Given the description of an element on the screen output the (x, y) to click on. 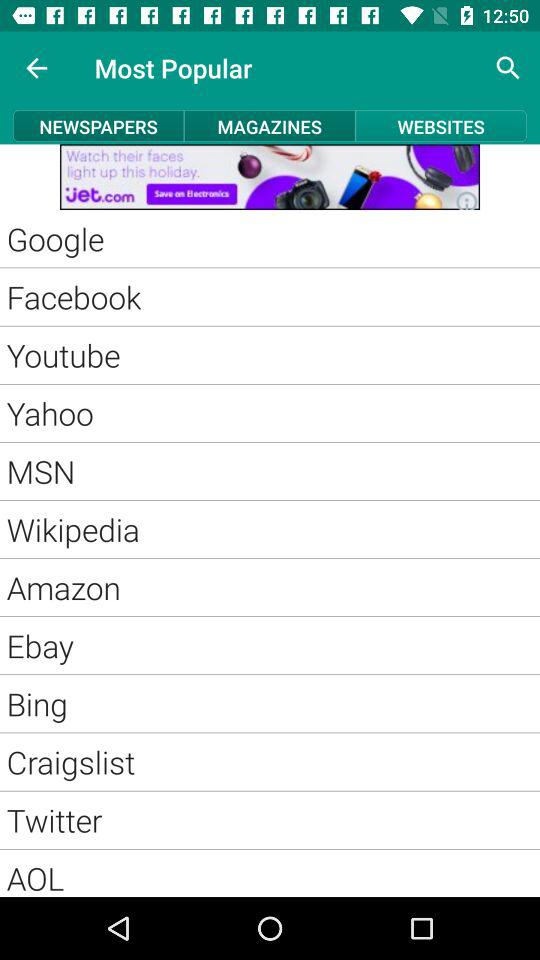
search (508, 67)
